Given the description of an element on the screen output the (x, y) to click on. 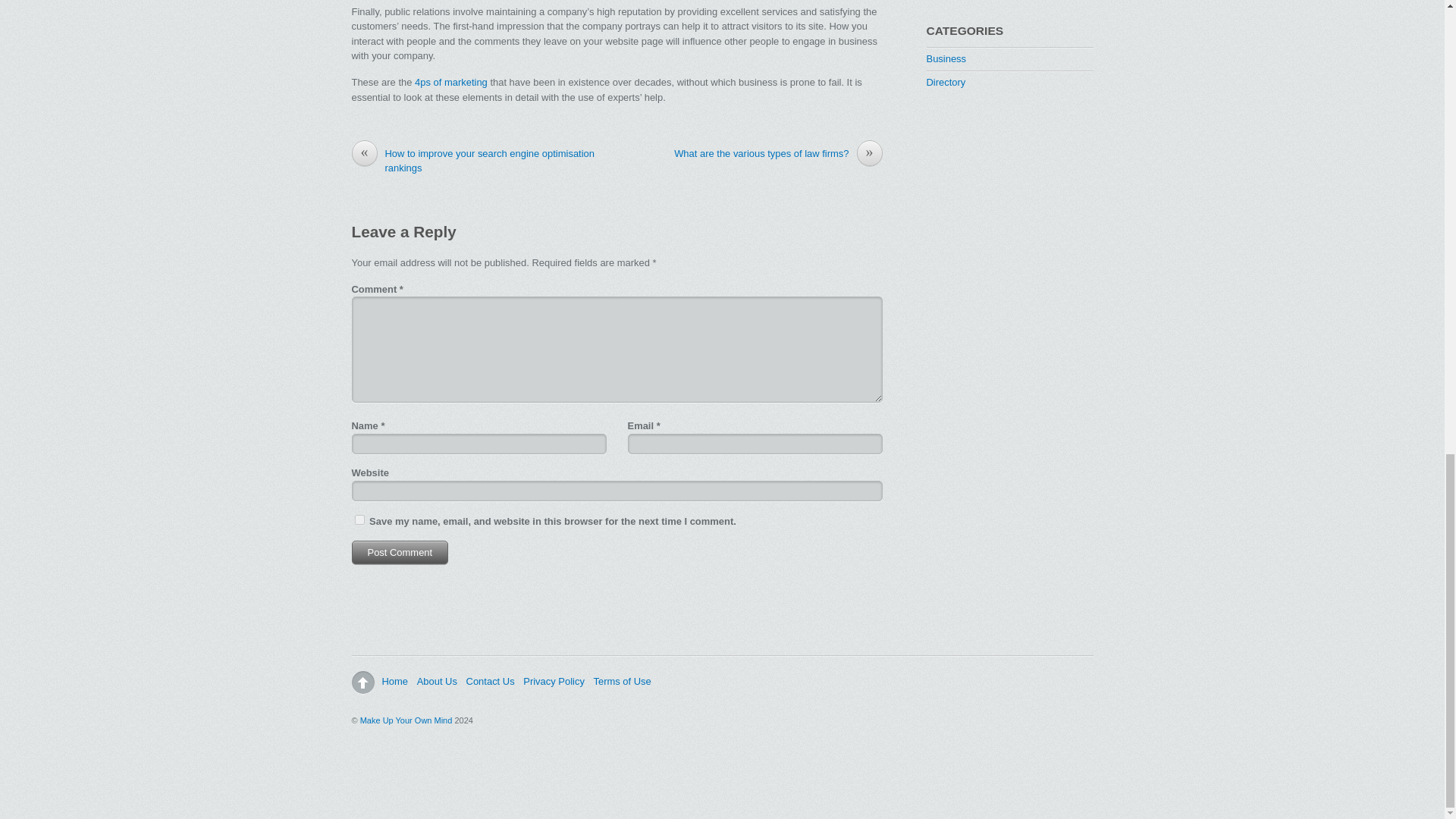
Business (946, 58)
Post Comment (400, 552)
Make Up Your Own Mind (405, 719)
4ps of marketing (450, 81)
Directory (946, 81)
About Us (436, 681)
Terms of Use (621, 681)
yes (360, 519)
Privacy Policy (553, 681)
Post Comment (400, 552)
